Given the description of an element on the screen output the (x, y) to click on. 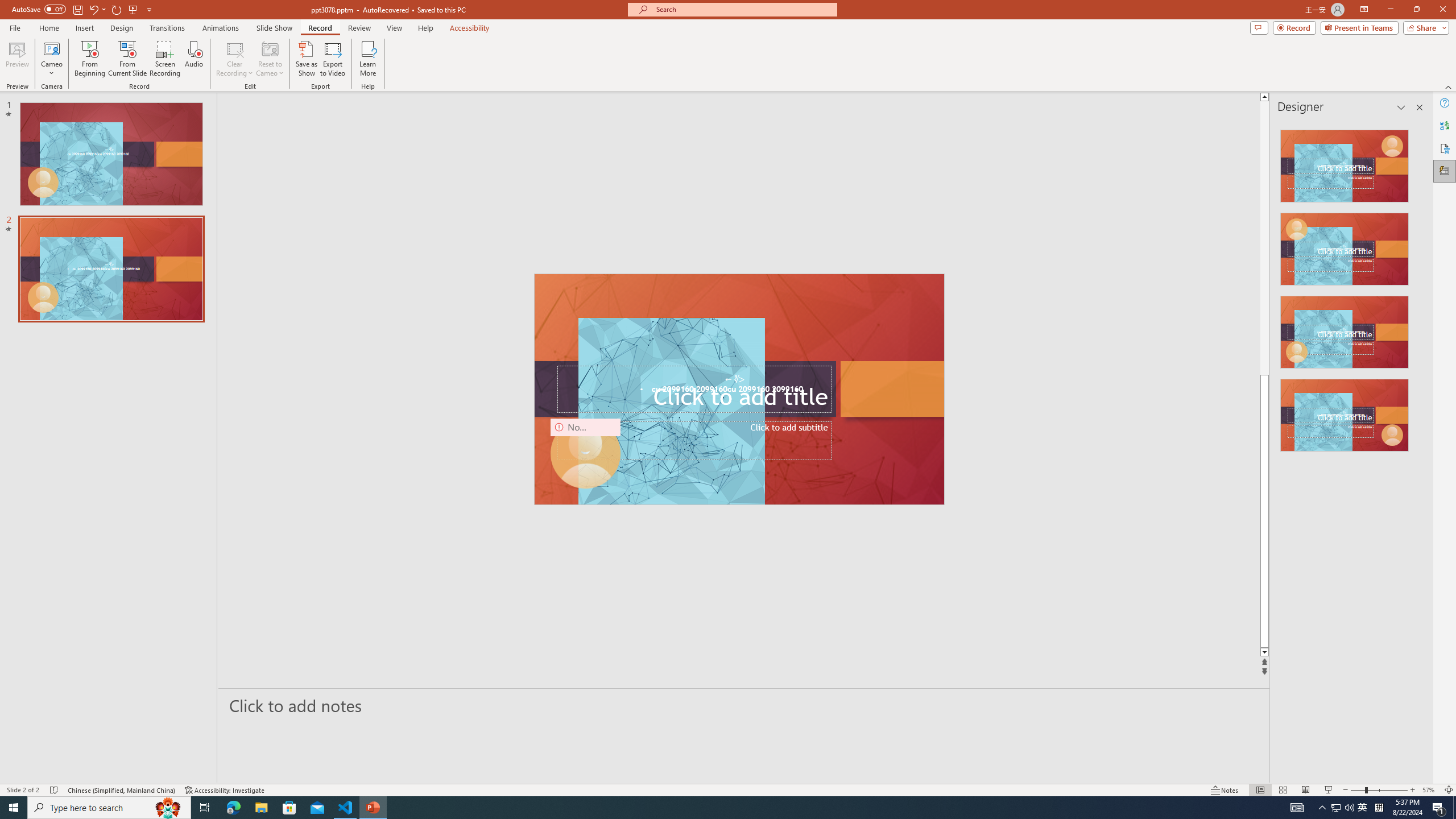
Camera 9, No camera detected. (584, 453)
Recommended Design: Design Idea (1344, 162)
